Given the description of an element on the screen output the (x, y) to click on. 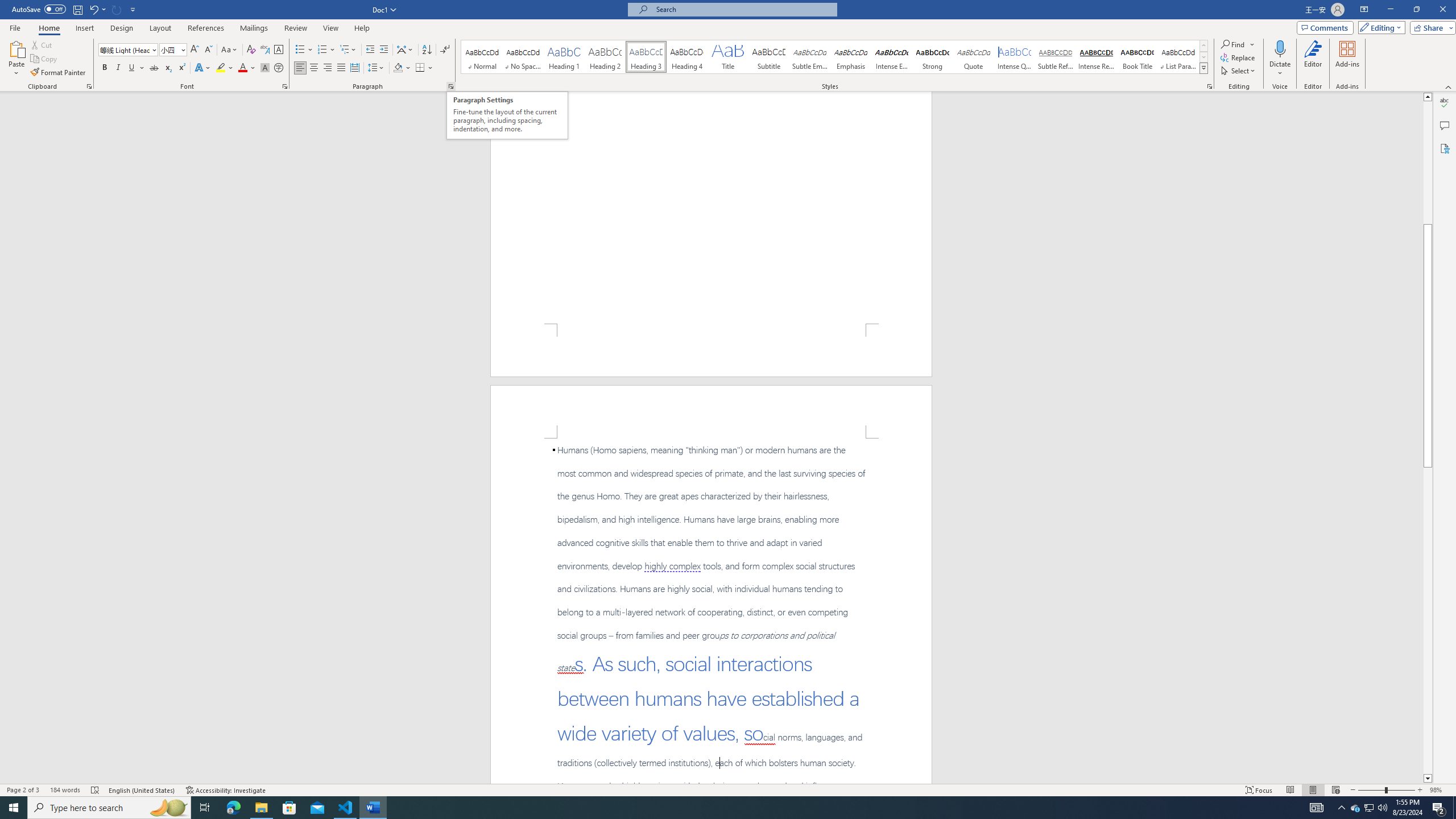
Text Effects and Typography (202, 67)
Center (313, 67)
Undo Apply Quick Style (96, 9)
Bold (104, 67)
Subtle Emphasis (809, 56)
Class: MsoCommandBar (728, 789)
Accessibility Checker Accessibility: Investigate (226, 790)
Subscript (167, 67)
Office Clipboard... (88, 85)
